Given the description of an element on the screen output the (x, y) to click on. 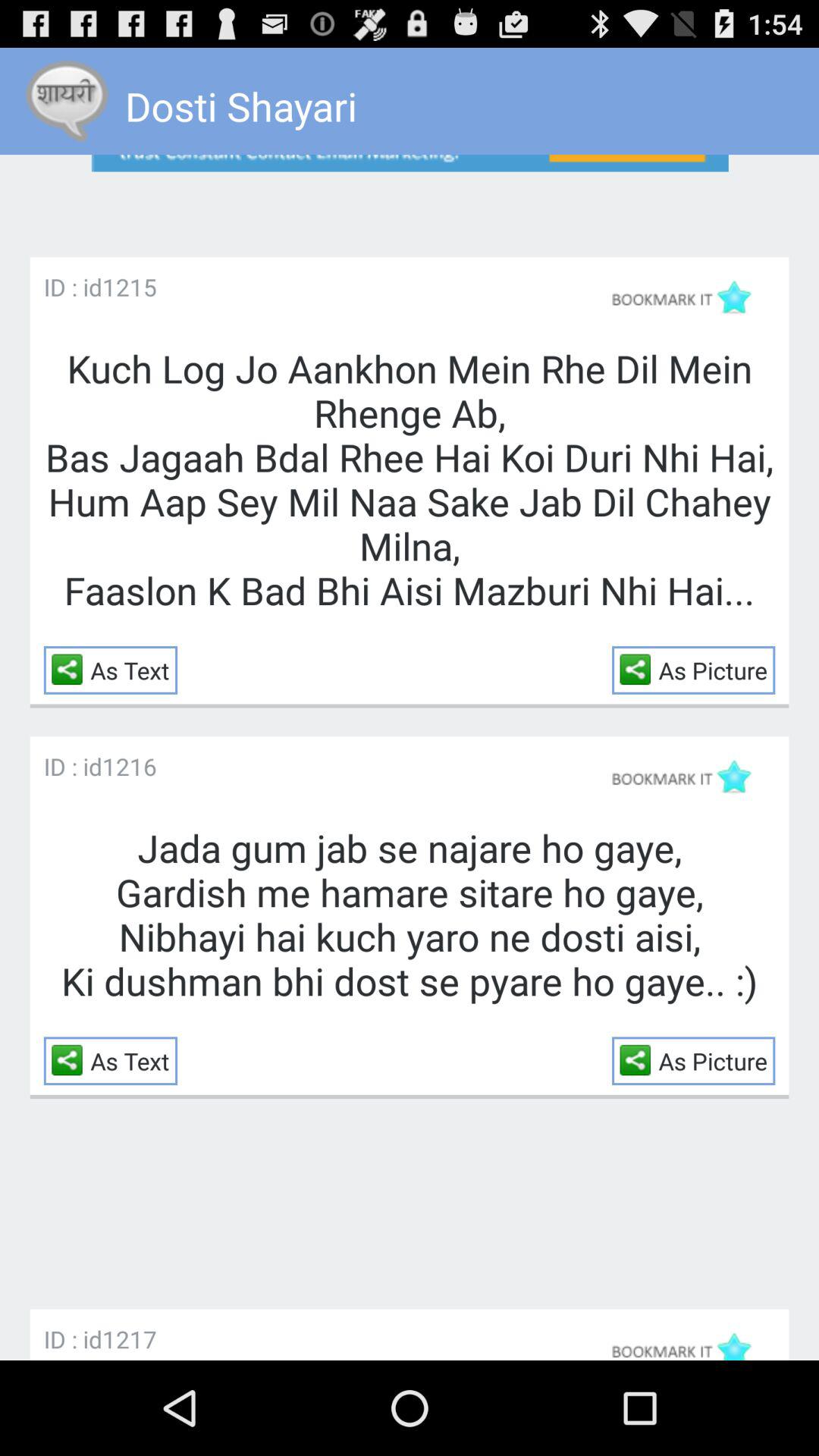
select the item to the left of the as text icon (70, 1059)
